Given the description of an element on the screen output the (x, y) to click on. 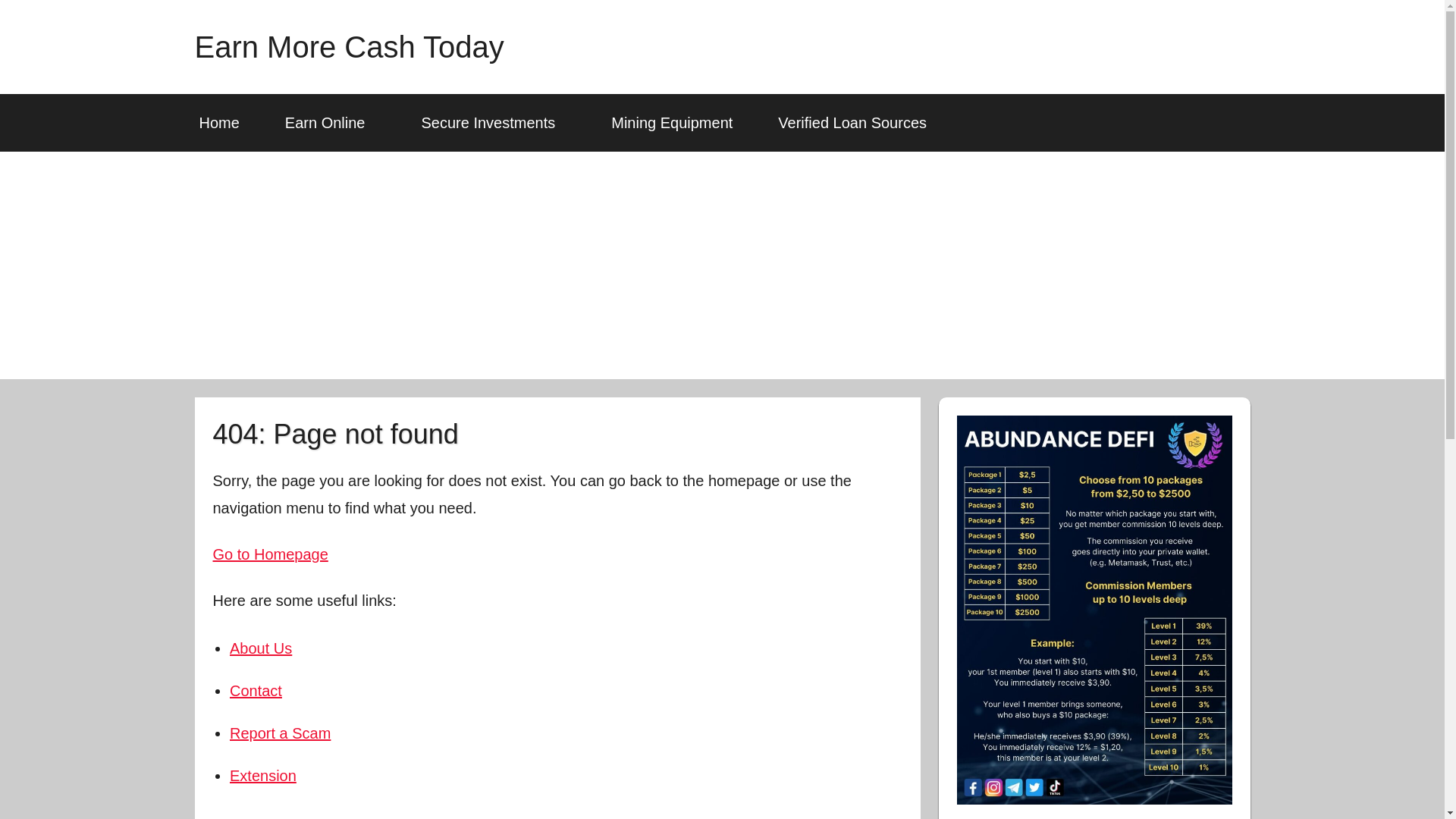
Secure Investments (492, 122)
Home (219, 122)
Go to Homepage (269, 554)
Mining Equipment (671, 122)
Extension (263, 775)
About Us (261, 647)
Earn Online (330, 122)
Verified Loan Sources (852, 122)
Earn More Cash Today (348, 46)
